Given the description of an element on the screen output the (x, y) to click on. 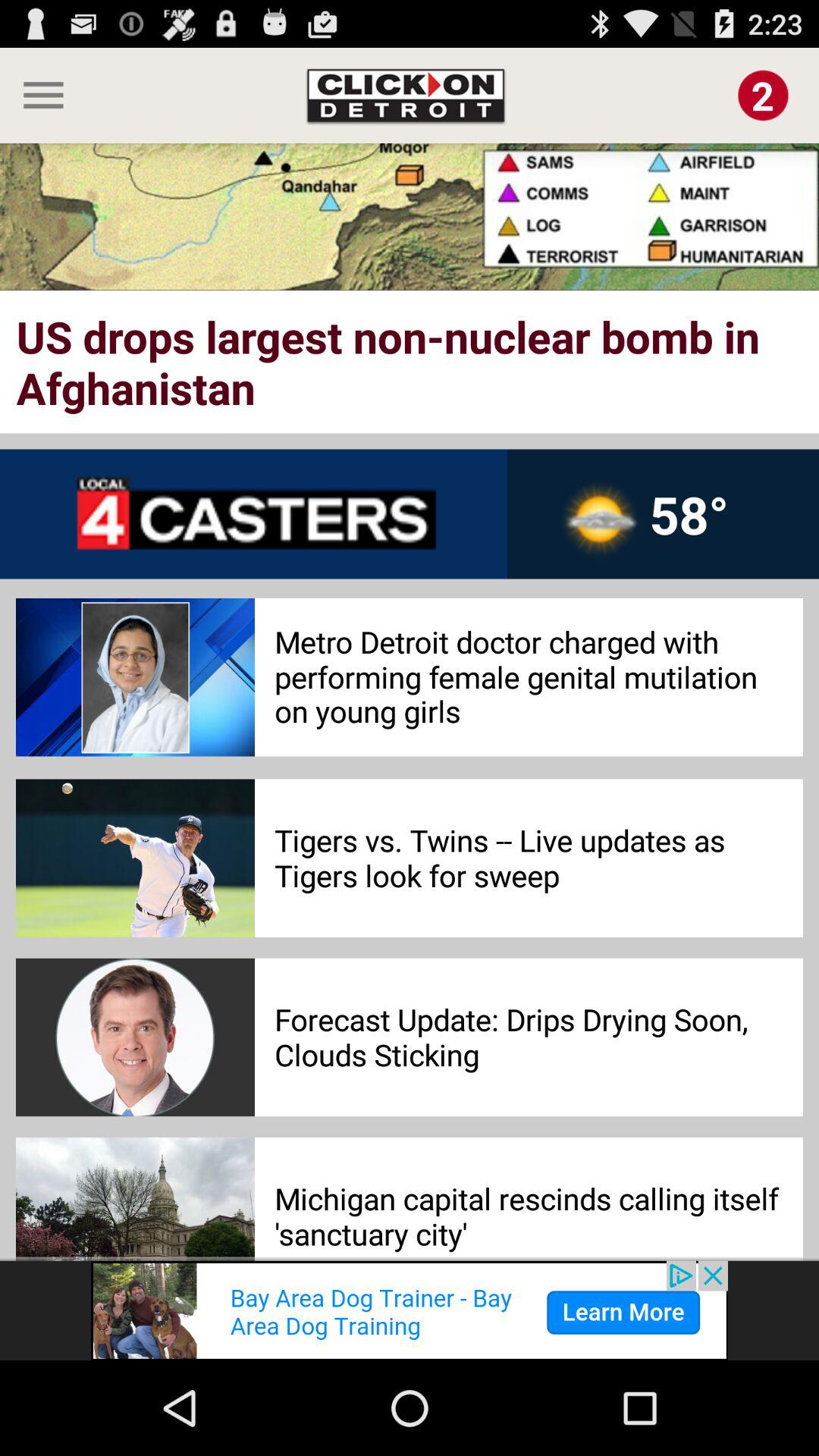
select the image (762, 95)
